Given the description of an element on the screen output the (x, y) to click on. 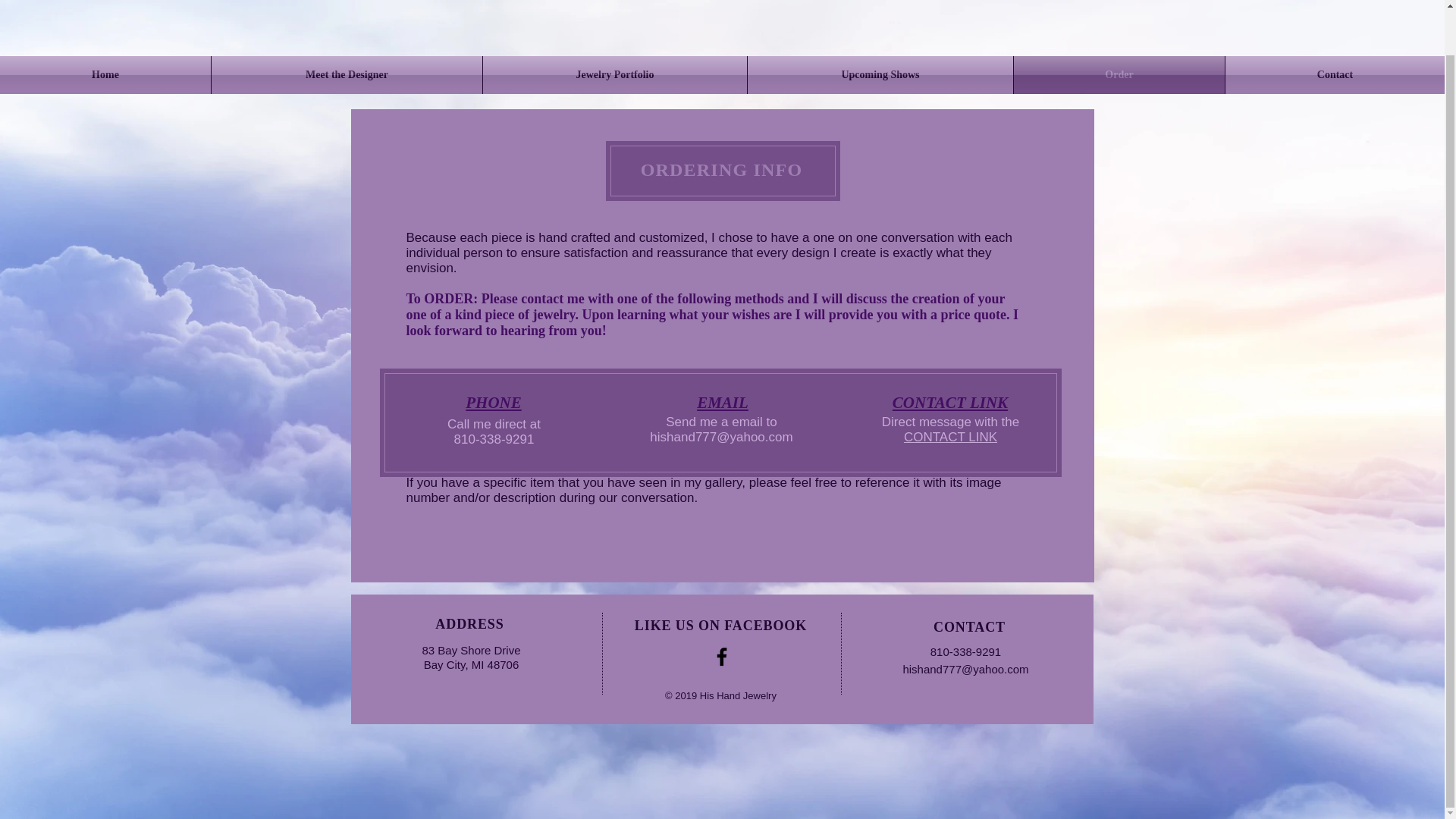
Upcoming Shows (880, 75)
CONTACT LINK (950, 436)
Order (1118, 75)
Meet the Designer (346, 75)
Jewelry Portfolio (614, 75)
Home (105, 75)
